Given the description of an element on the screen output the (x, y) to click on. 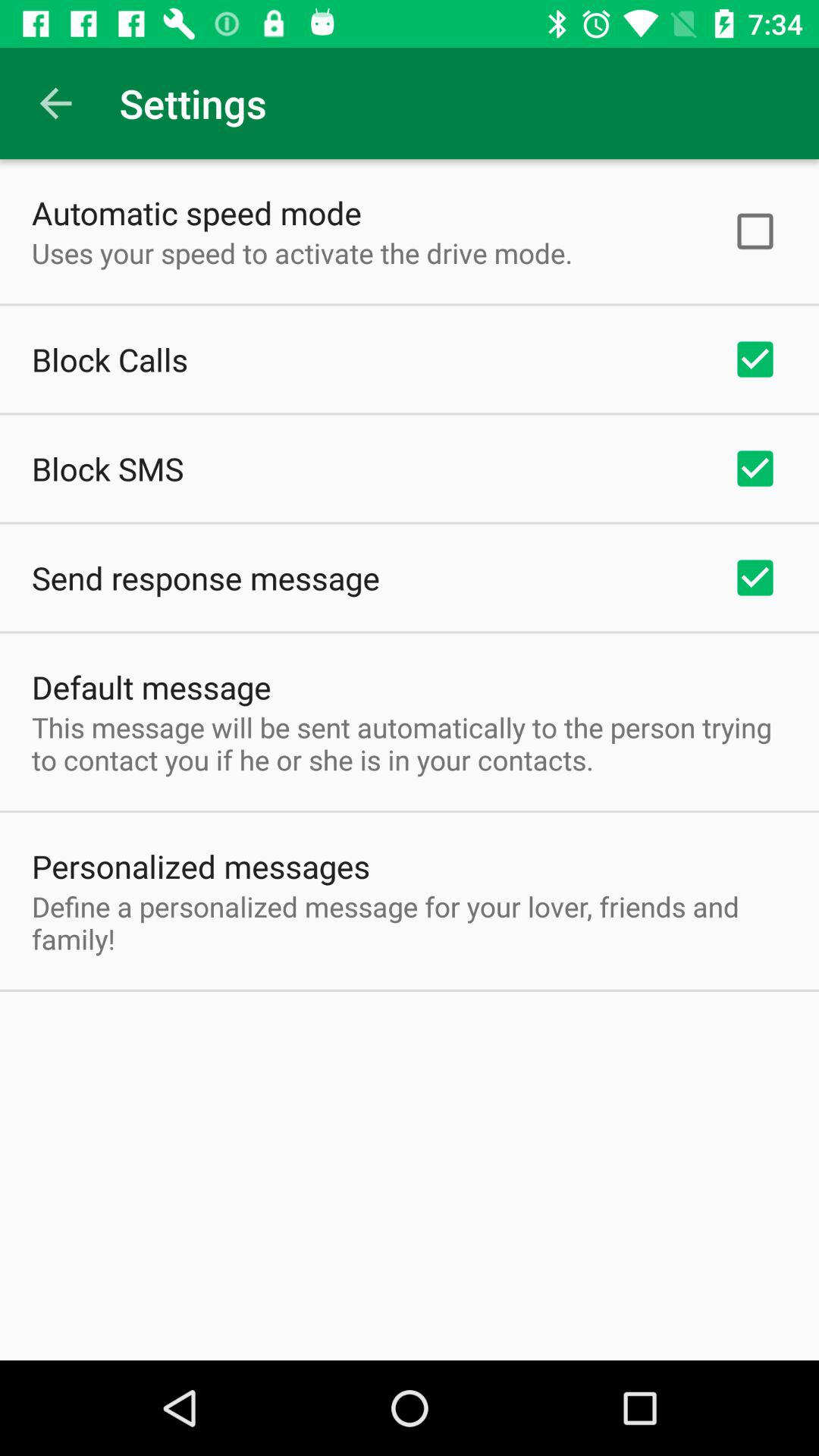
turn on the icon above the automatic speed mode icon (55, 103)
